Given the description of an element on the screen output the (x, y) to click on. 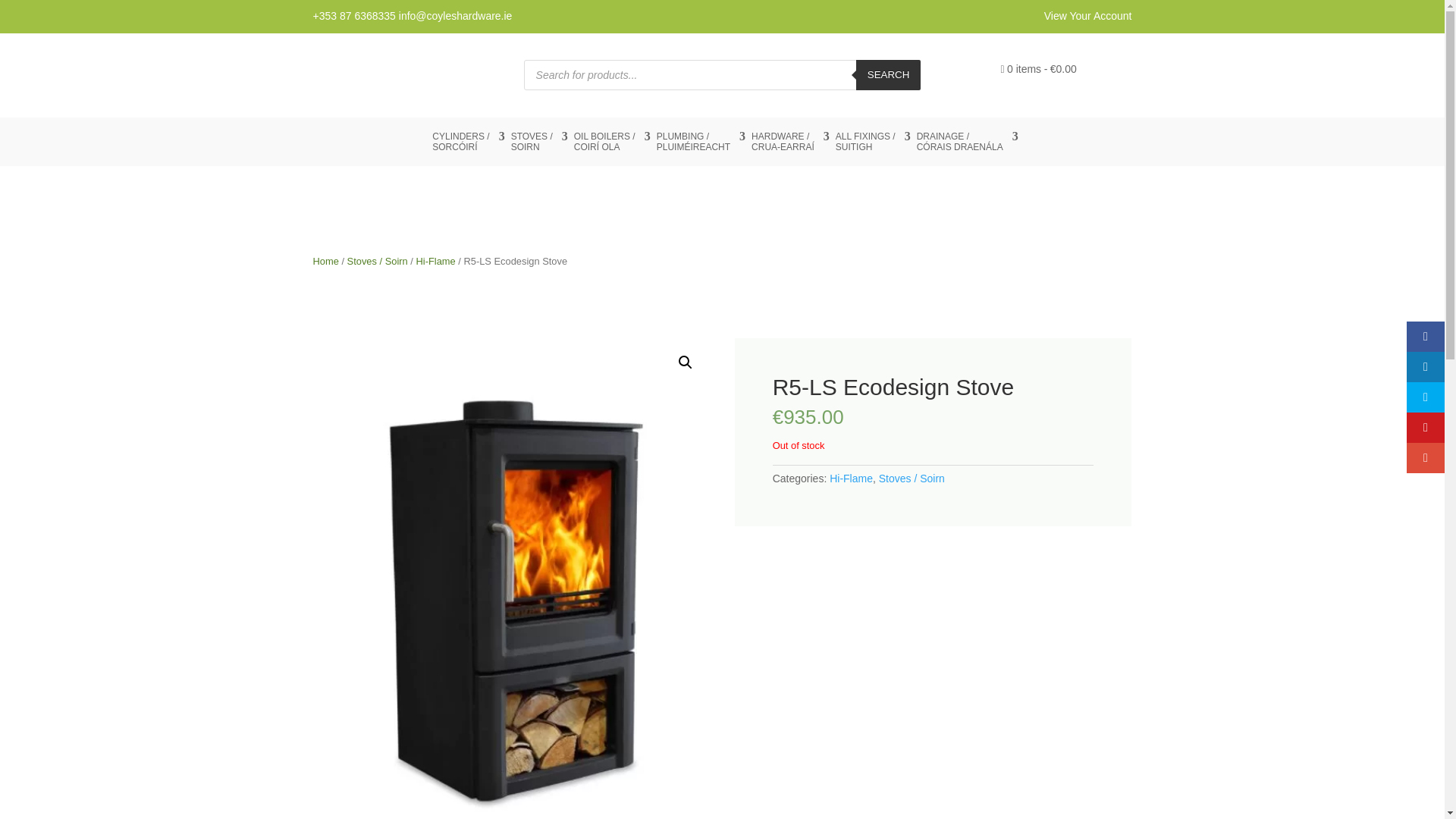
Start shopping (1037, 72)
View Your Account (1087, 15)
SEARCH (888, 74)
